Given the description of an element on the screen output the (x, y) to click on. 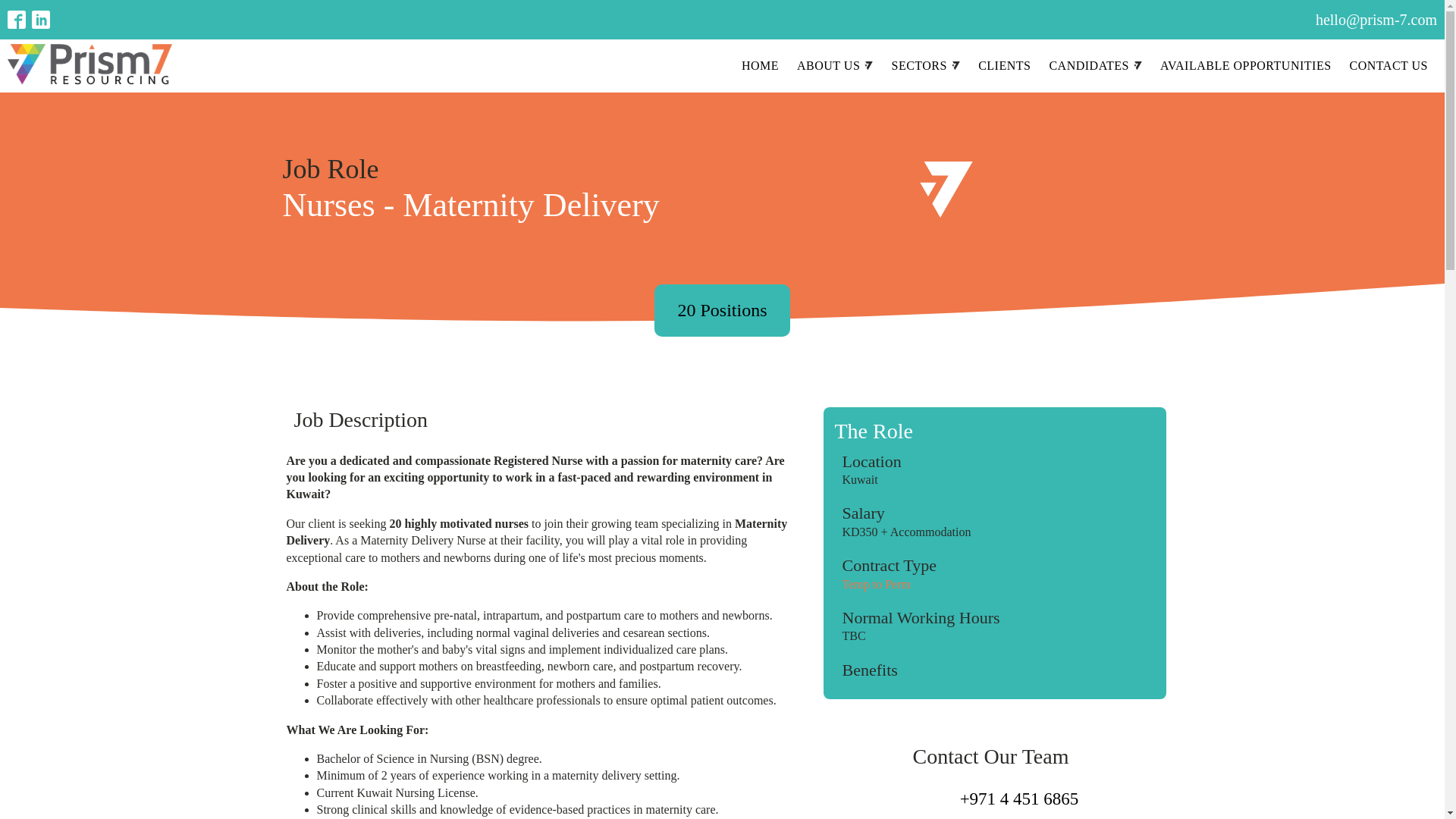
Temp to Perm (875, 584)
CONTACT US (1388, 65)
HOME (759, 65)
CANDIDATES (1095, 65)
SECTORS (925, 65)
CLIENTS (1004, 65)
AVAILABLE OPPORTUNITIES (1245, 65)
ABOUT US (834, 65)
